Given the description of an element on the screen output the (x, y) to click on. 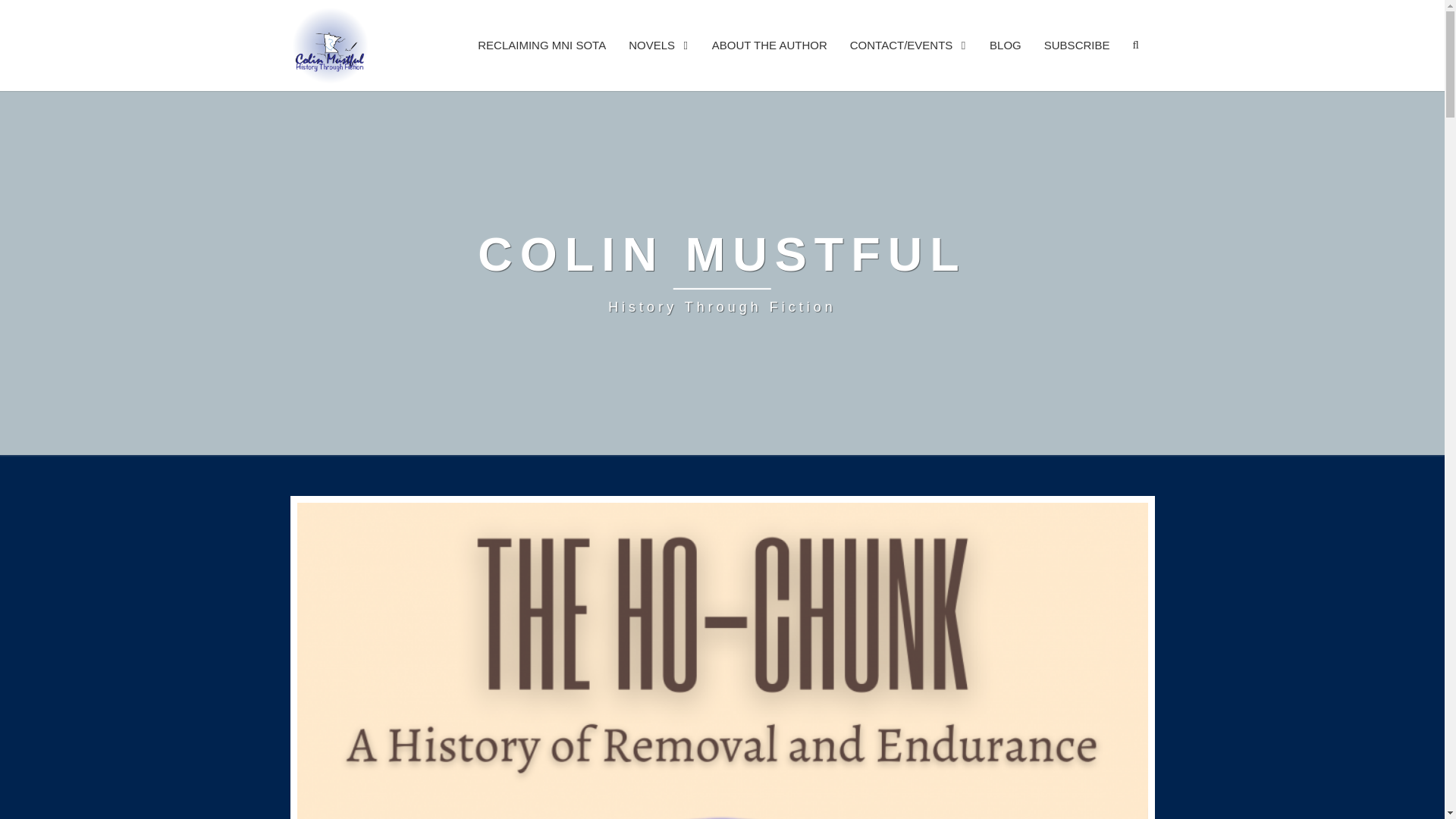
NOVELS (721, 272)
BLOG (658, 44)
RECLAIMING MNI SOTA (1005, 44)
ABOUT THE AUTHOR (541, 44)
SUBSCRIBE (769, 44)
Colin Mustful (1076, 44)
